Given the description of an element on the screen output the (x, y) to click on. 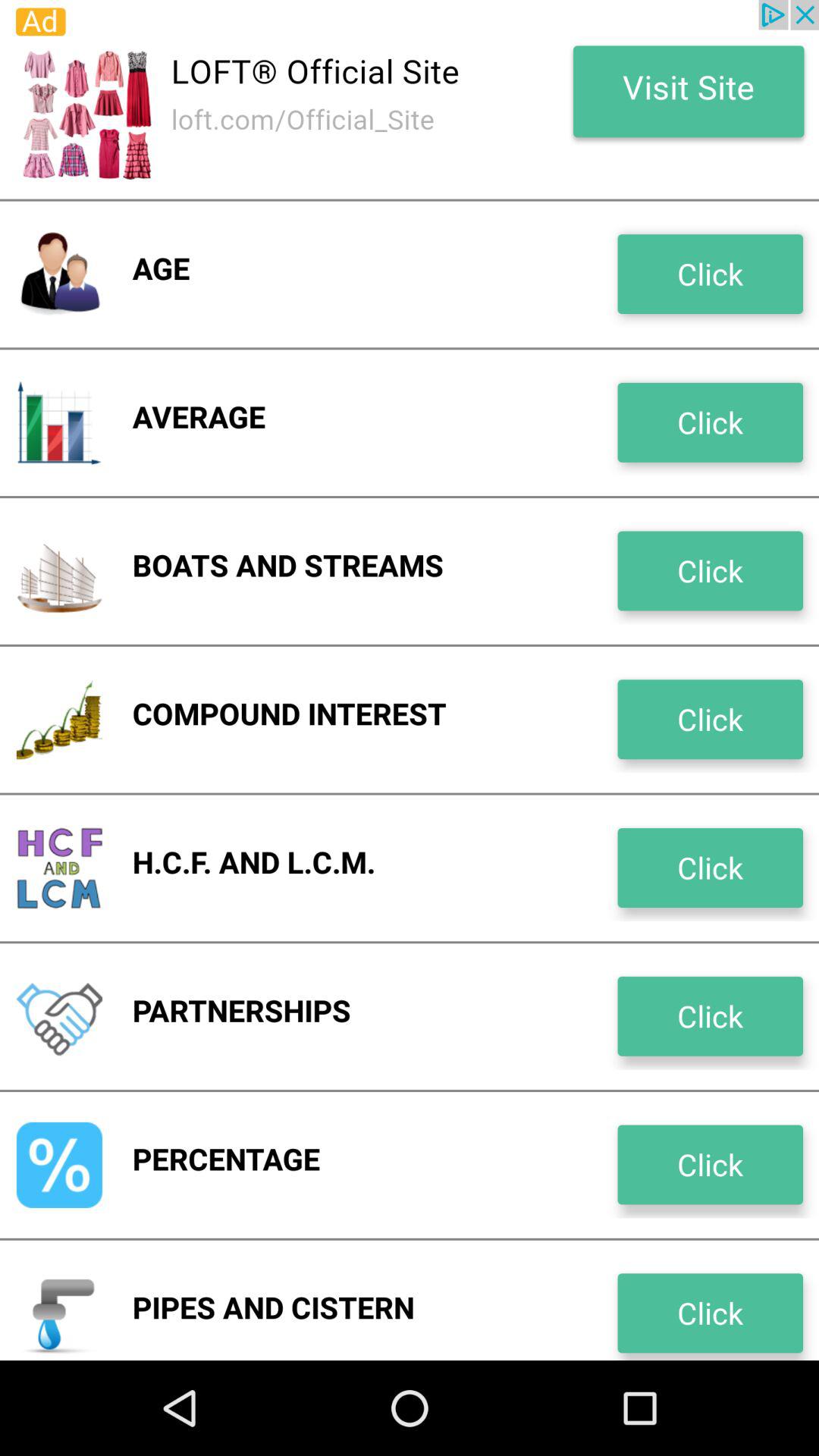
advertisement (409, 99)
